Given the description of an element on the screen output the (x, y) to click on. 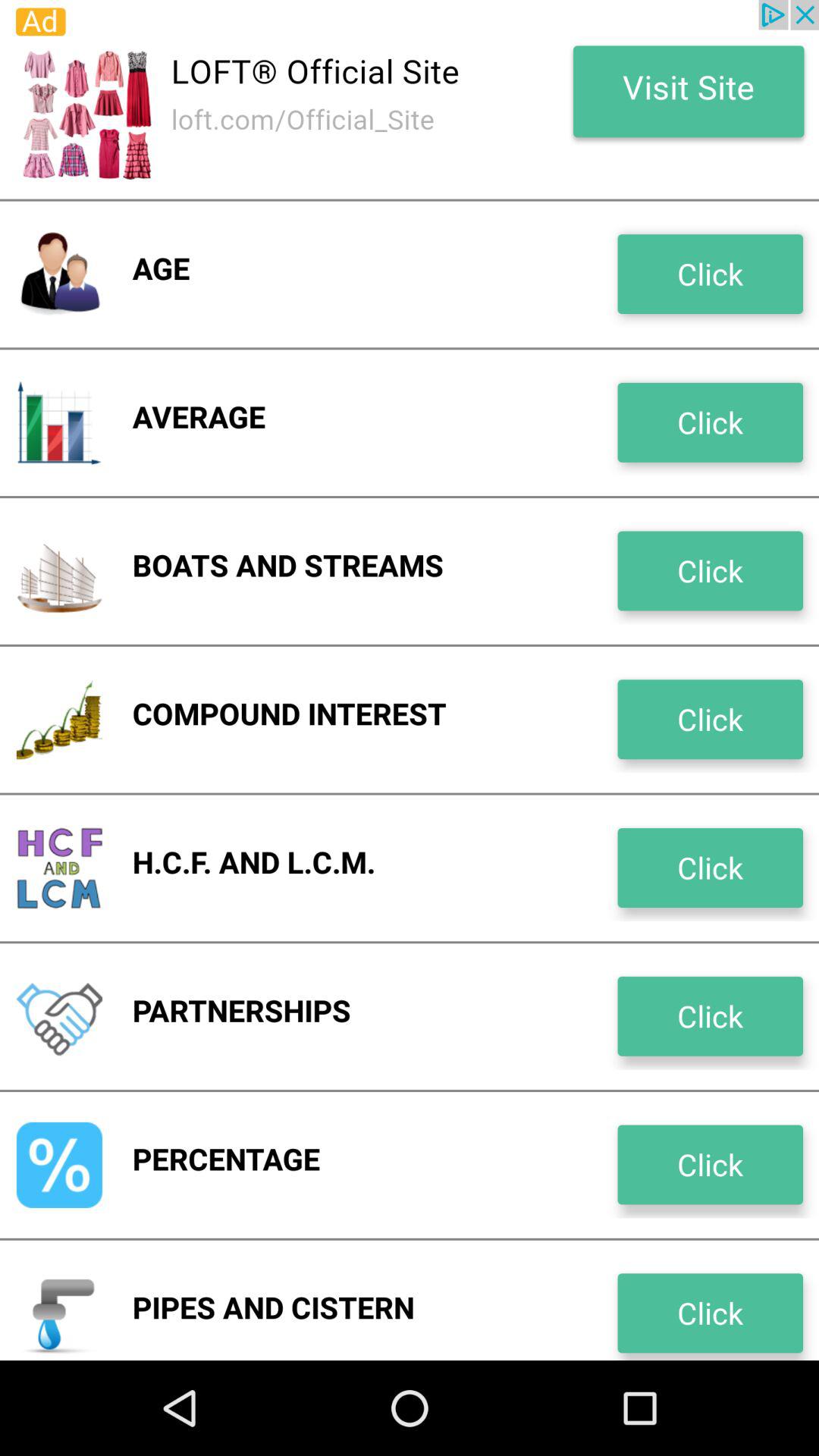
advertisement (409, 99)
